Given the description of an element on the screen output the (x, y) to click on. 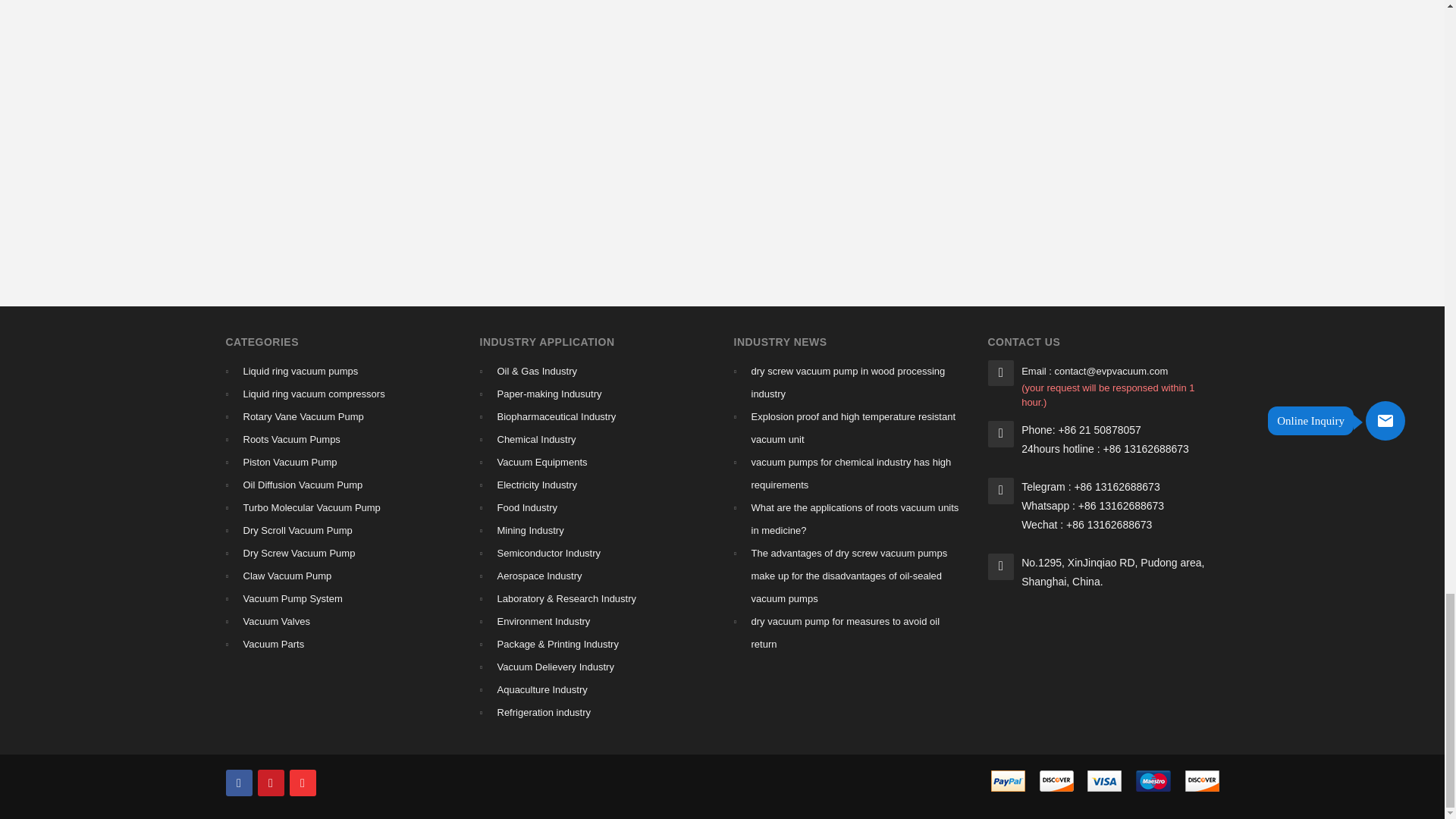
Facebook (238, 782)
PInterest (270, 782)
Youtube (302, 782)
